Given the description of an element on the screen output the (x, y) to click on. 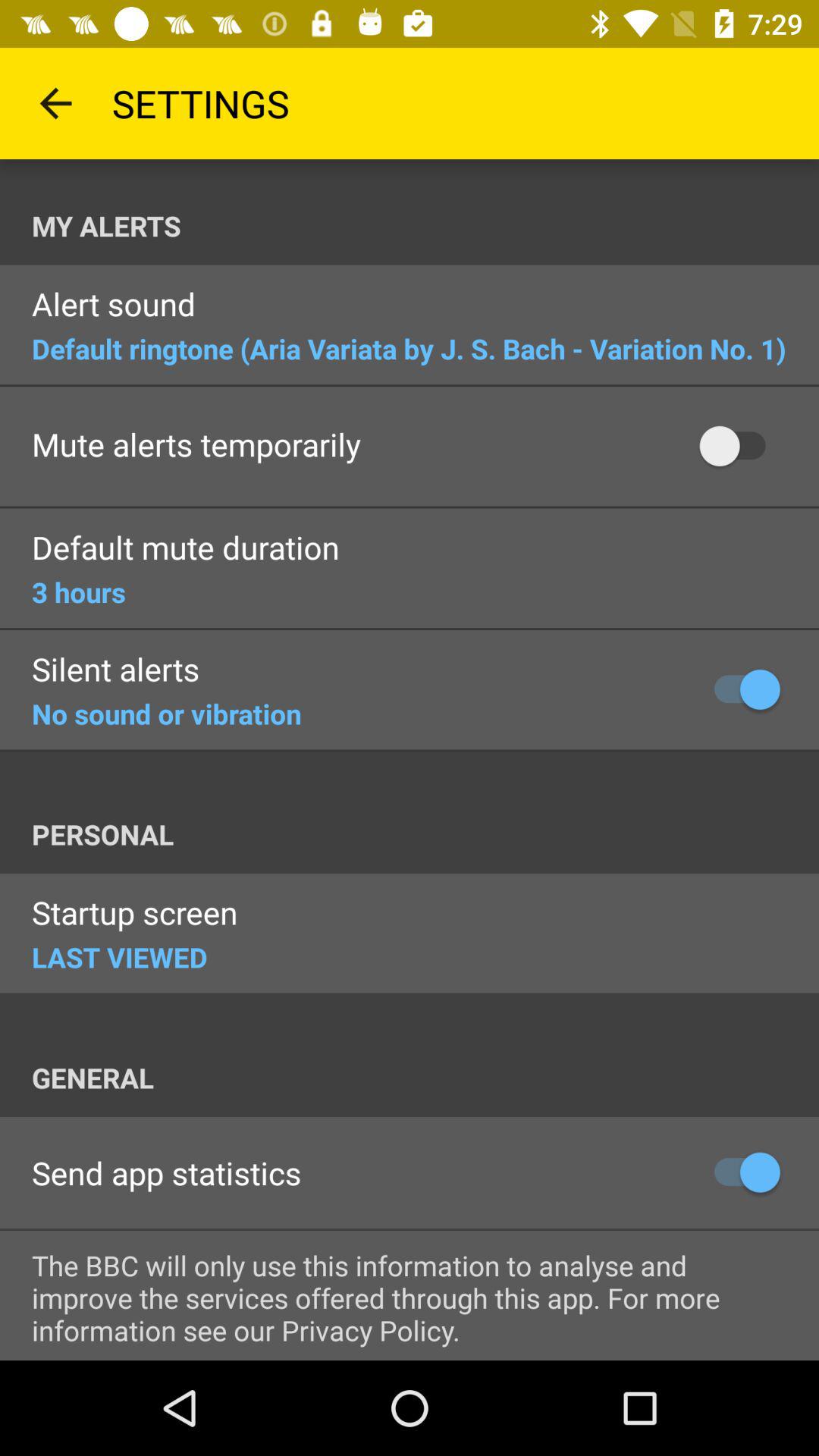
scroll to the startup screen item (134, 914)
